Given the description of an element on the screen output the (x, y) to click on. 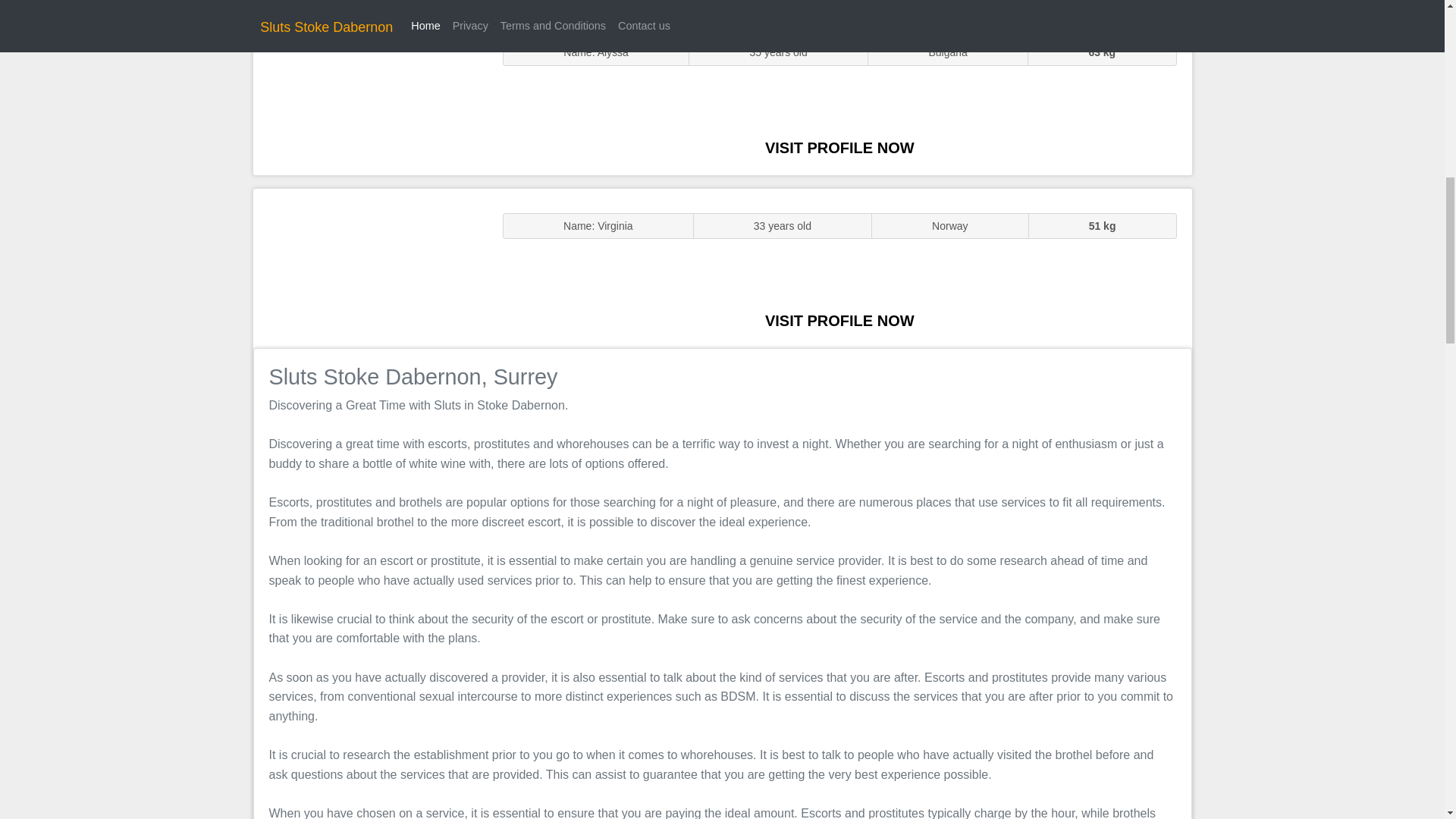
VISIT PROFILE NOW (839, 147)
Massage (370, 267)
VISIT PROFILE NOW (839, 320)
Sluts (370, 94)
